Given the description of an element on the screen output the (x, y) to click on. 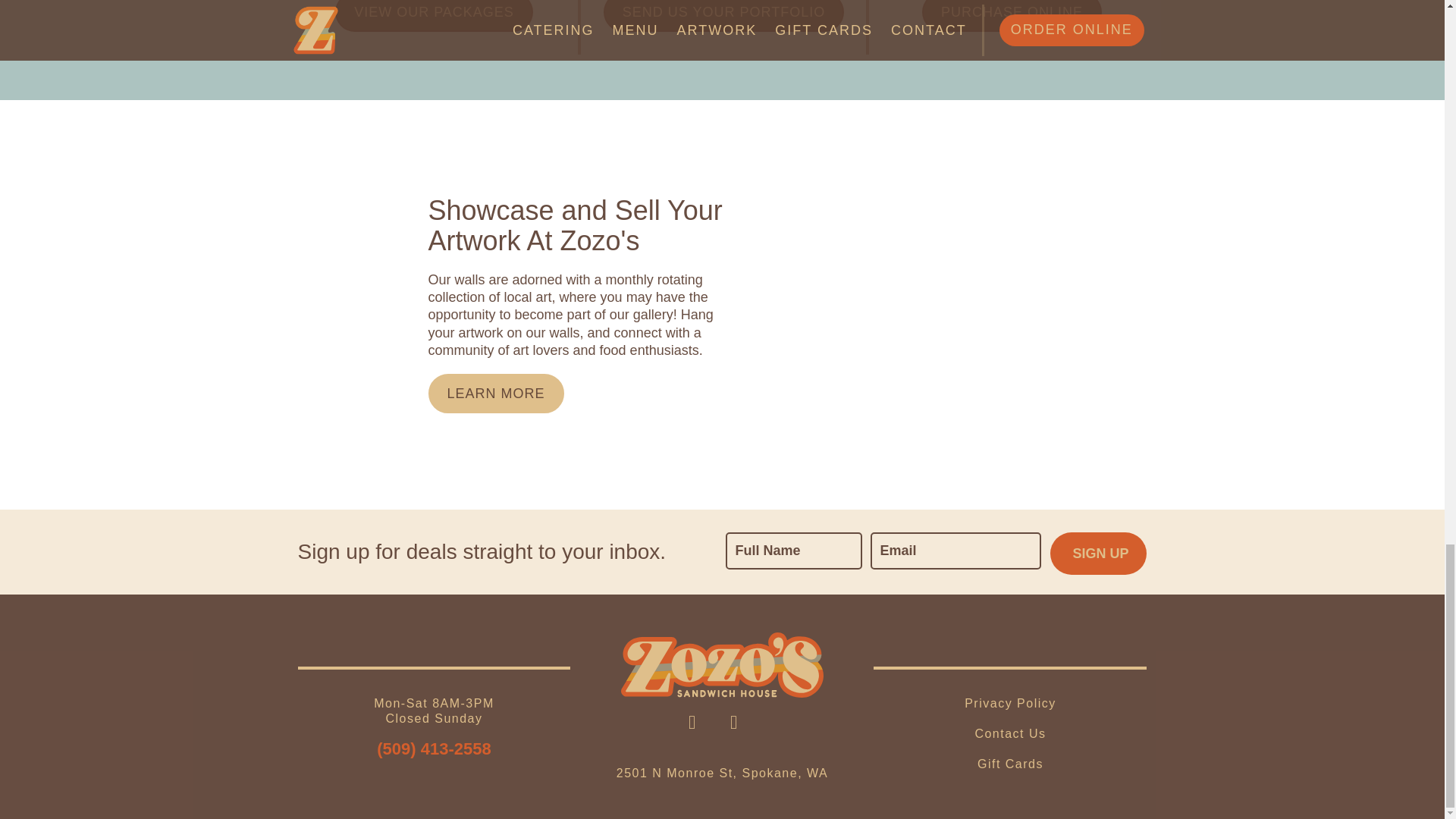
SEND US YOUR PORTFOLIO (724, 15)
PURCHASE ONLINE (1011, 15)
Sign Up (1098, 553)
VIEW OUR PACKAGES (433, 15)
LEARN MORE (495, 393)
Sign Up (1098, 553)
